Given the description of an element on the screen output the (x, y) to click on. 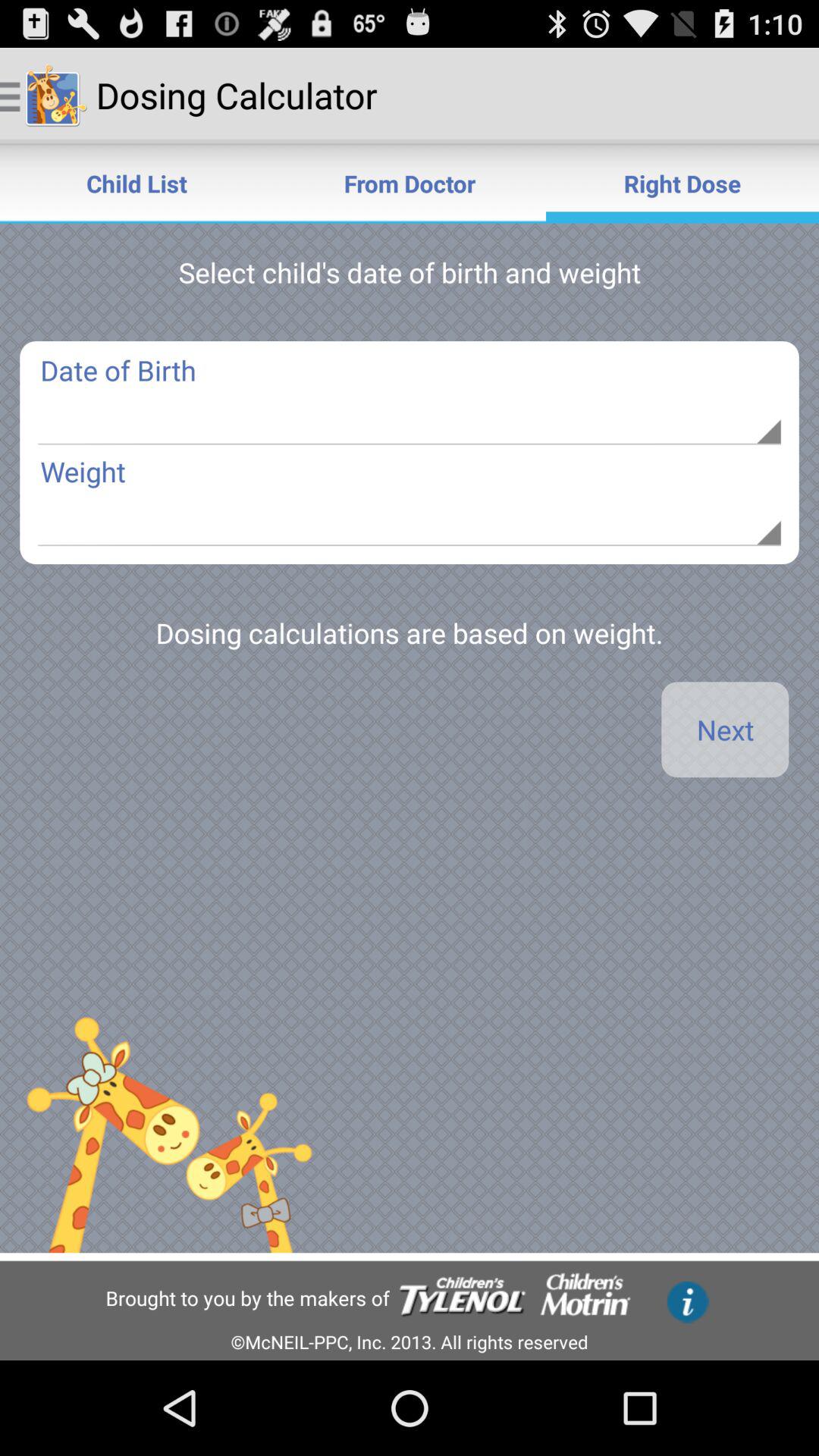
click from doctor (409, 183)
